Given the description of an element on the screen output the (x, y) to click on. 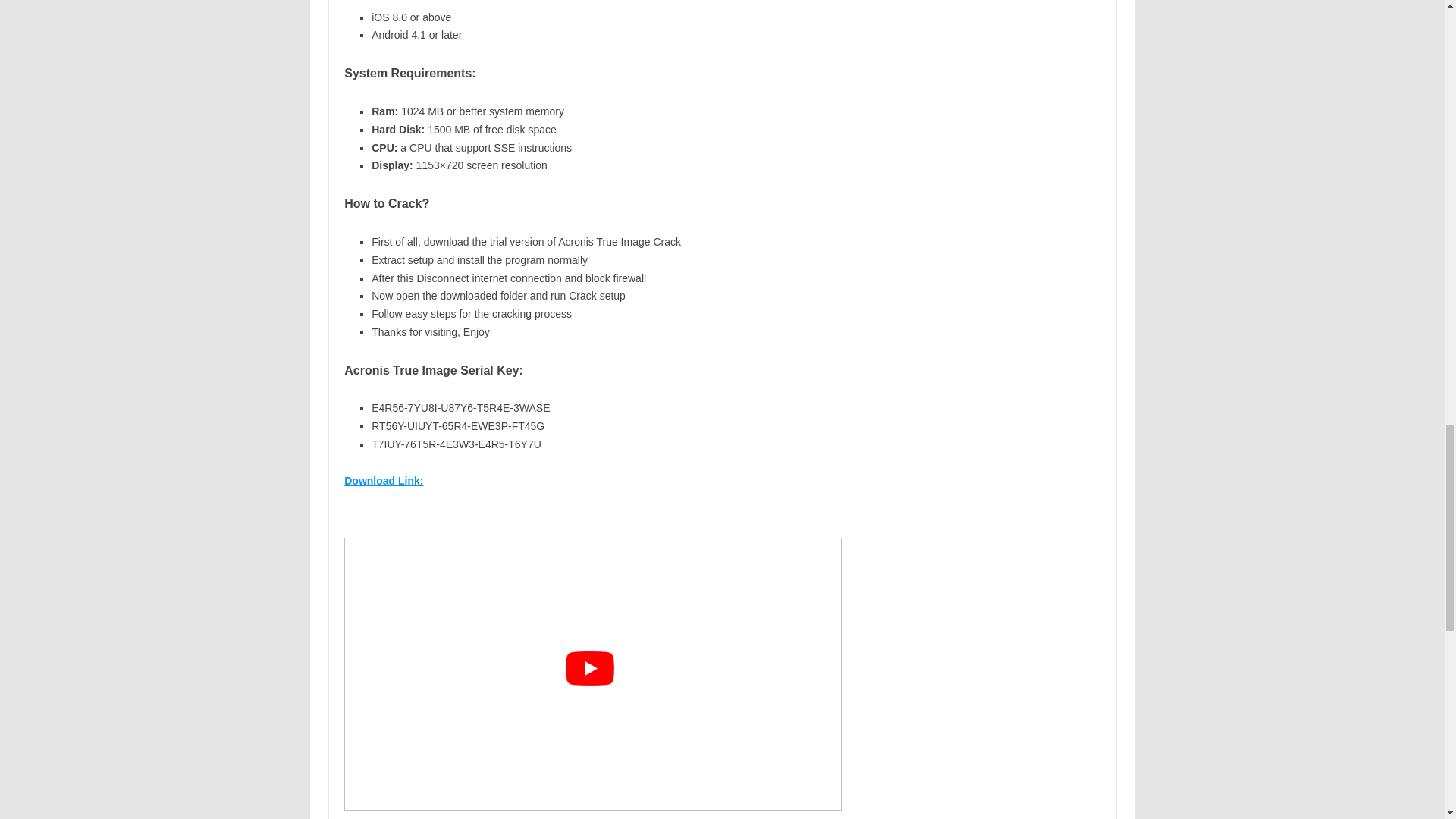
Download Link: (383, 480)
